Given the description of an element on the screen output the (x, y) to click on. 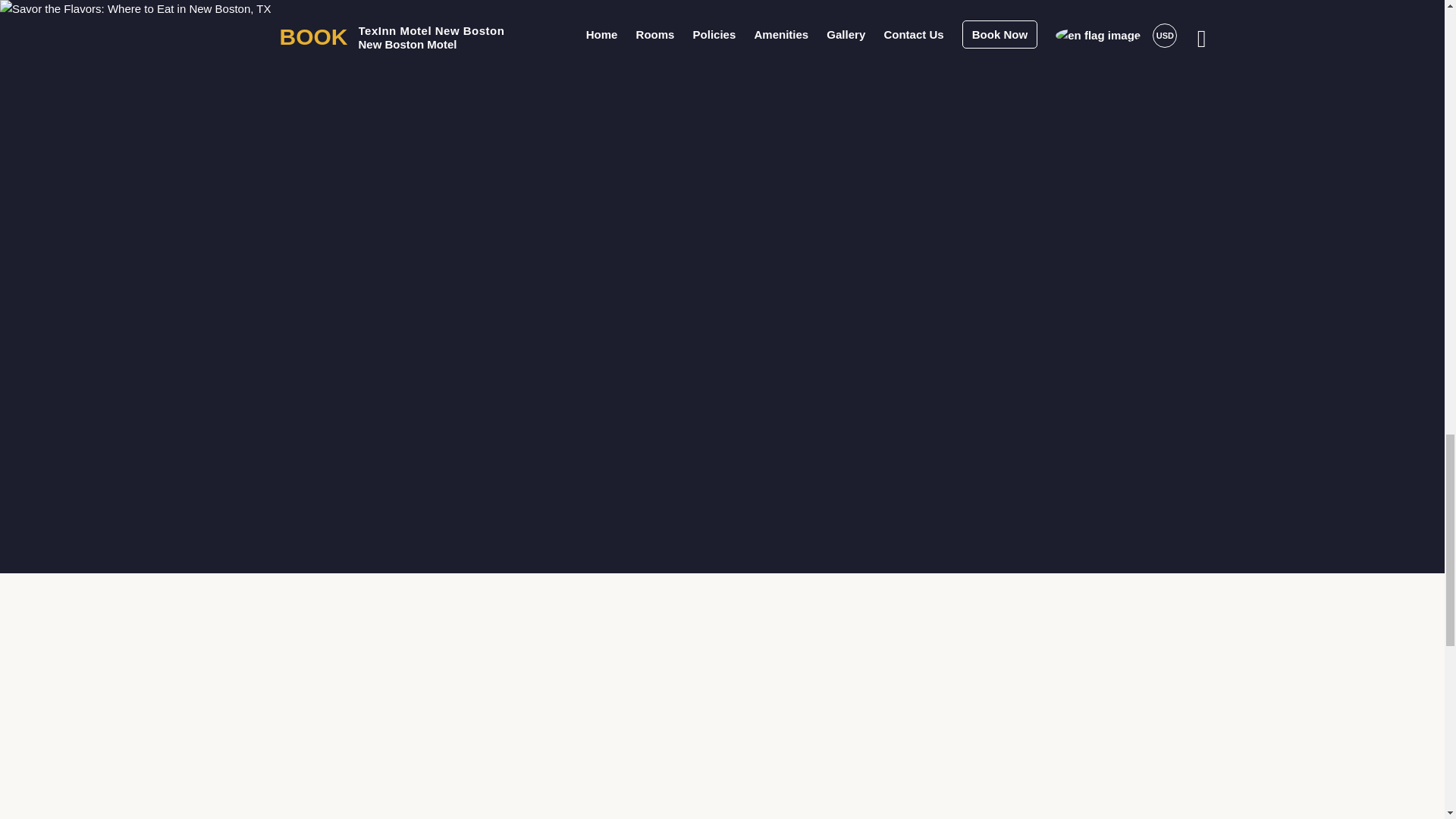
Dining (560, 163)
Restaurants (630, 163)
Isla Coventry (518, 327)
New Boston (435, 163)
Desserts (500, 200)
Comfort Food (719, 163)
Barbecue (430, 200)
Next post (883, 460)
Texas (505, 163)
Previous Post (560, 460)
